Given the description of an element on the screen output the (x, y) to click on. 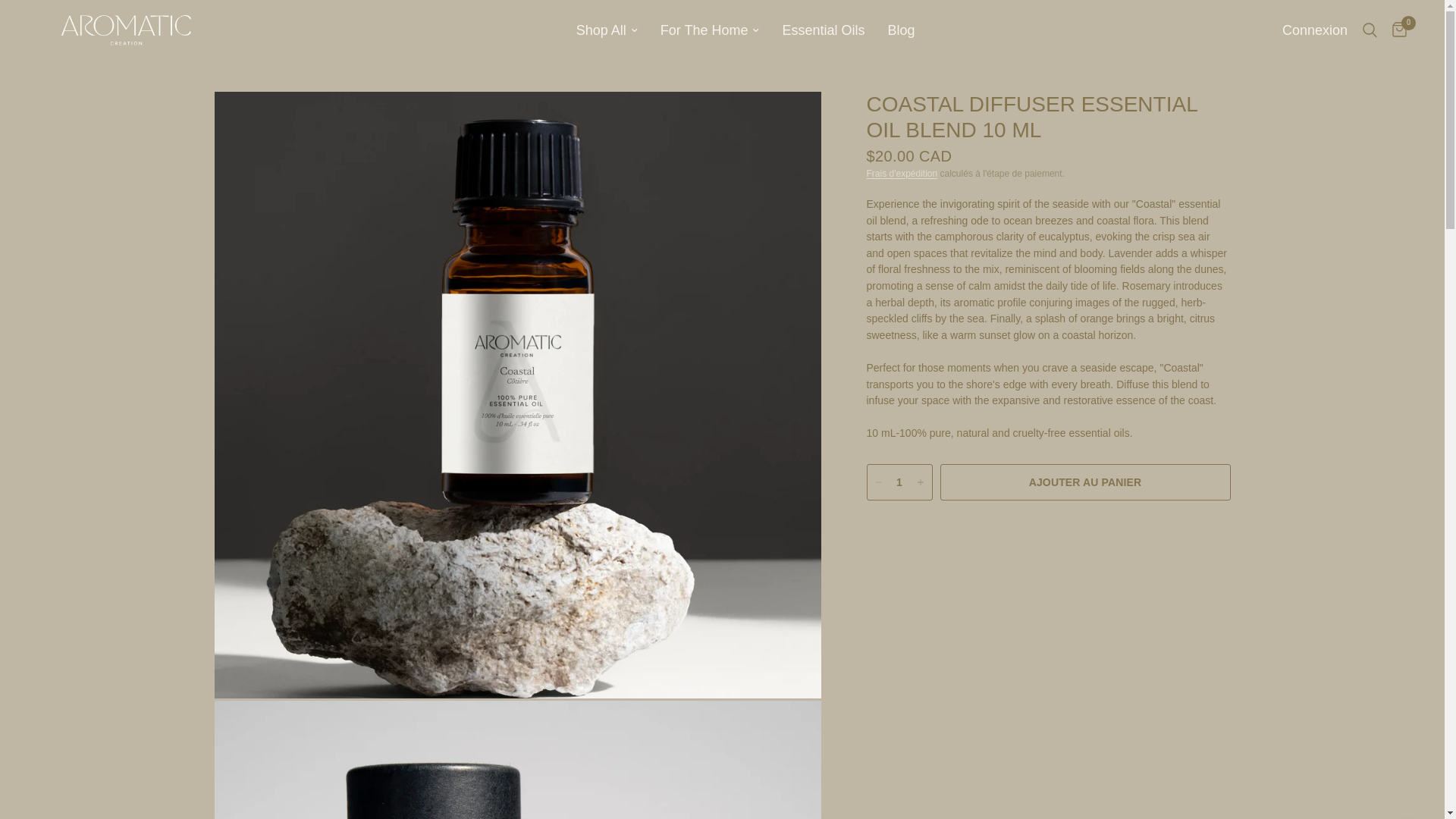
Blog (900, 30)
Connexion (1315, 30)
Mon compte (1315, 30)
Essential Oils (822, 30)
For The Home (710, 30)
Shop All (606, 30)
